Given the description of an element on the screen output the (x, y) to click on. 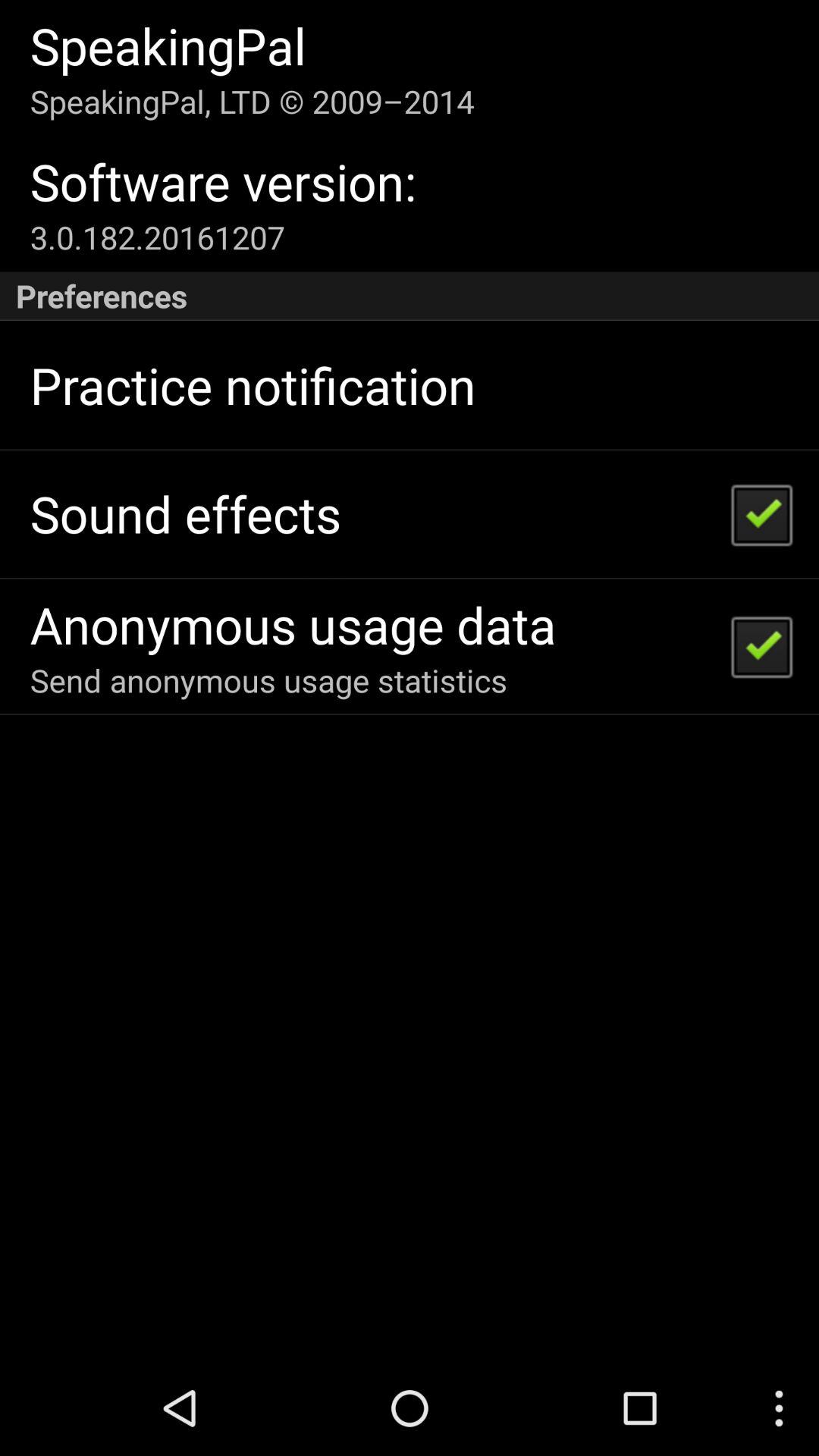
click on second check box (761, 646)
